Given the description of an element on the screen output the (x, y) to click on. 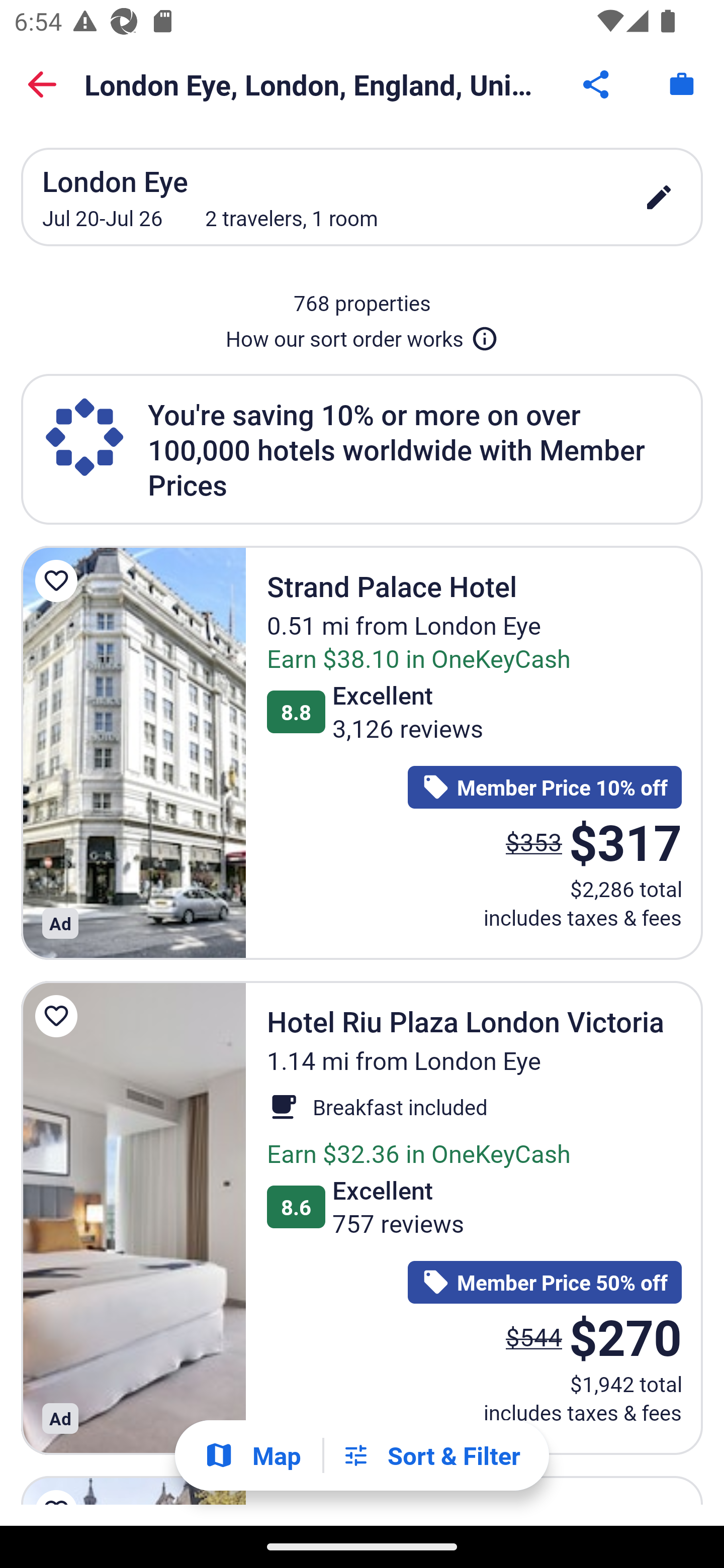
Back (42, 84)
Share Button (597, 84)
Trips. Button (681, 84)
London Eye Jul 20-Jul 26 2 travelers, 1 room edit (361, 196)
How our sort order works (361, 334)
Save Strand Palace Hotel to a trip (59, 580)
Strand Palace Hotel (133, 752)
$353 The price was $353 (533, 841)
Save Hotel Riu Plaza London Victoria to a trip (59, 1015)
Hotel Riu Plaza London Victoria (133, 1218)
$544 The price was $544 (533, 1336)
Filters Sort & Filter Filters Button (430, 1455)
Show map Map Show map Button (252, 1455)
